Given the description of an element on the screen output the (x, y) to click on. 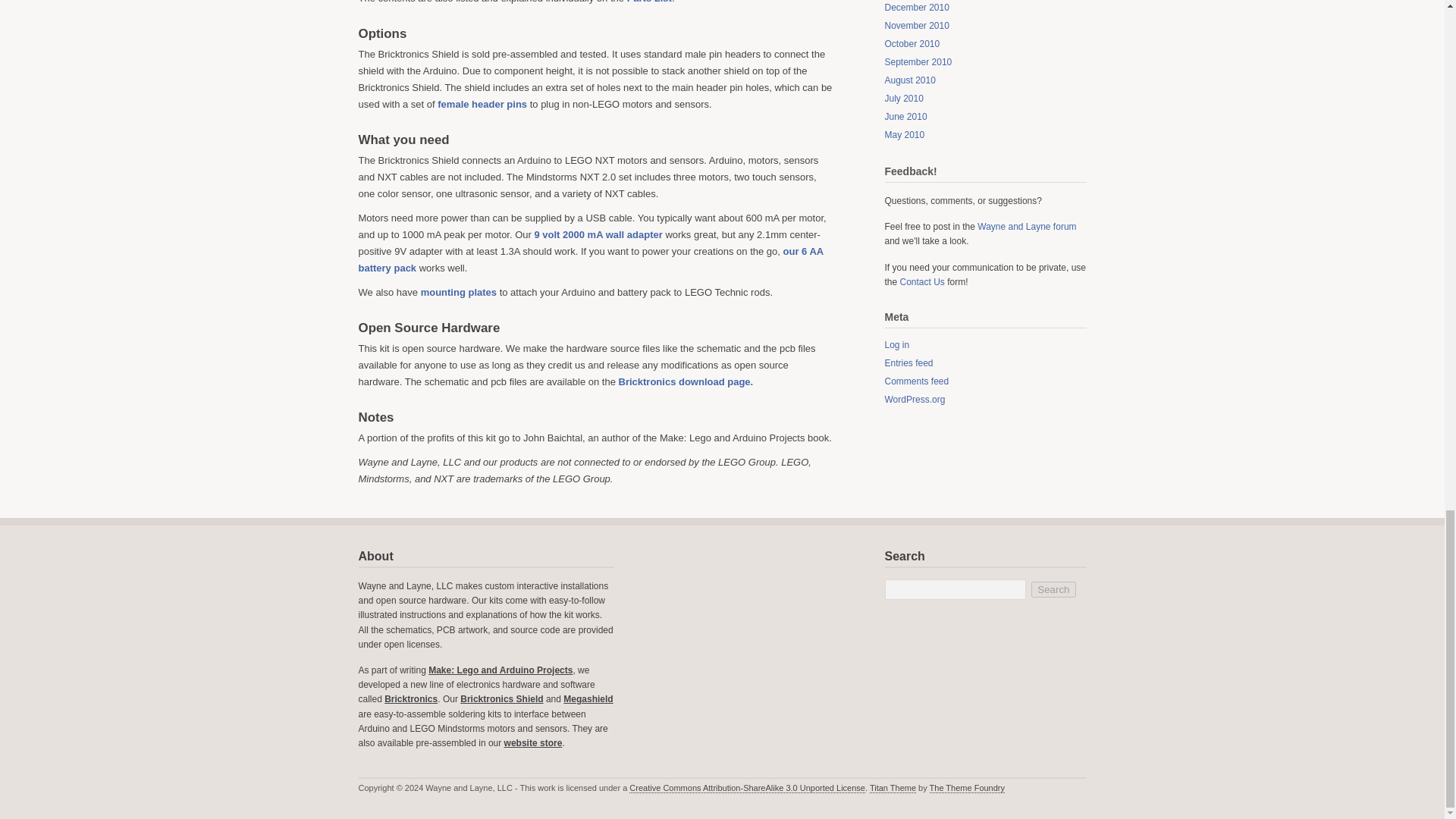
Search (1052, 589)
